Given the description of an element on the screen output the (x, y) to click on. 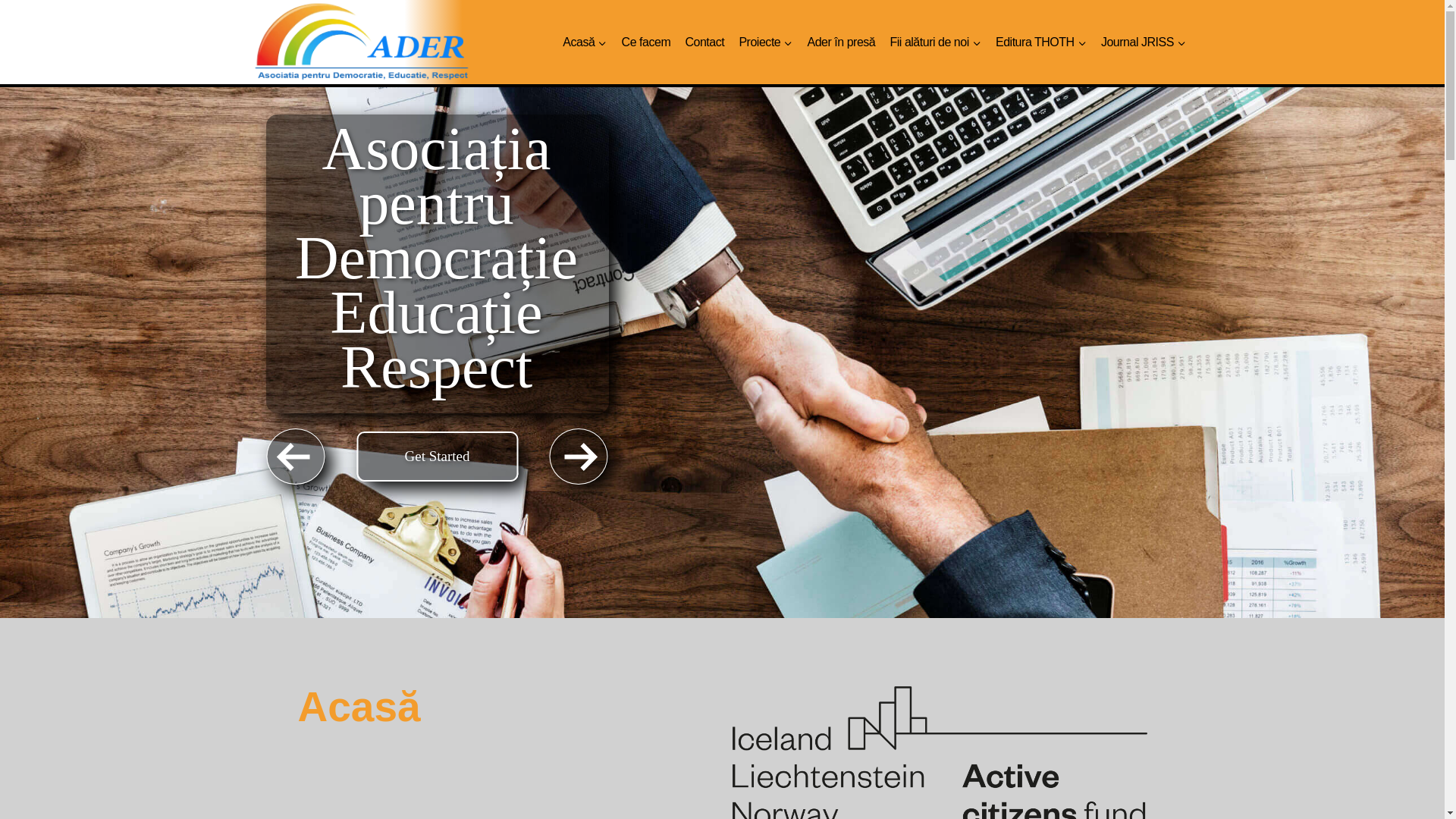
Ce facem (646, 41)
Proiecte (765, 41)
Contact (705, 41)
